Given the description of an element on the screen output the (x, y) to click on. 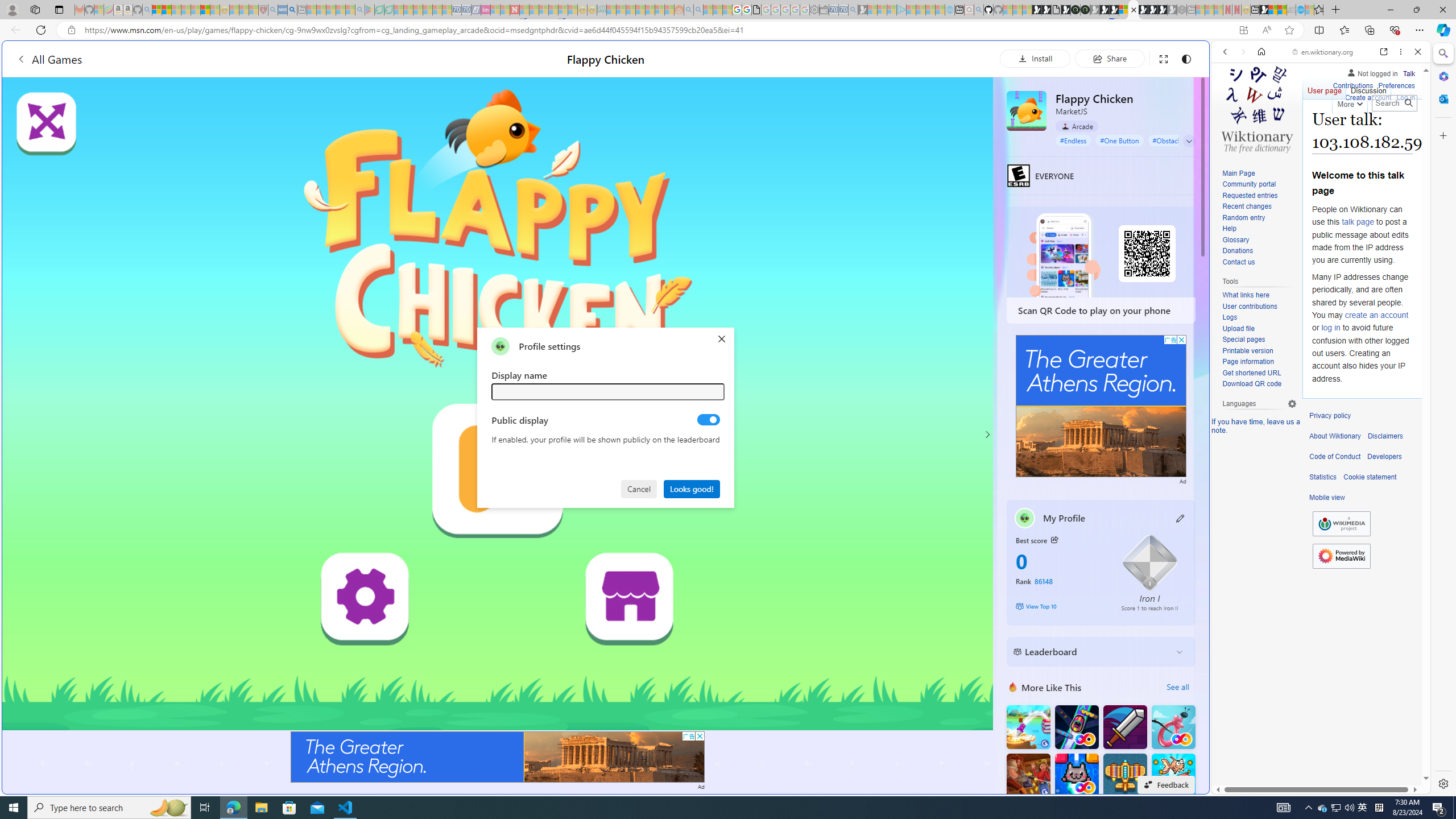
Class: text-input (608, 391)
Wikimedia Foundation (1341, 524)
Wallet - Sleeping (823, 9)
Arcade (1076, 126)
Class: expand-arrow neutral (1188, 141)
AutomationID: footer-poweredbyico (1341, 555)
View Top 10 (1060, 605)
Leaderboard (1091, 651)
